Given the description of an element on the screen output the (x, y) to click on. 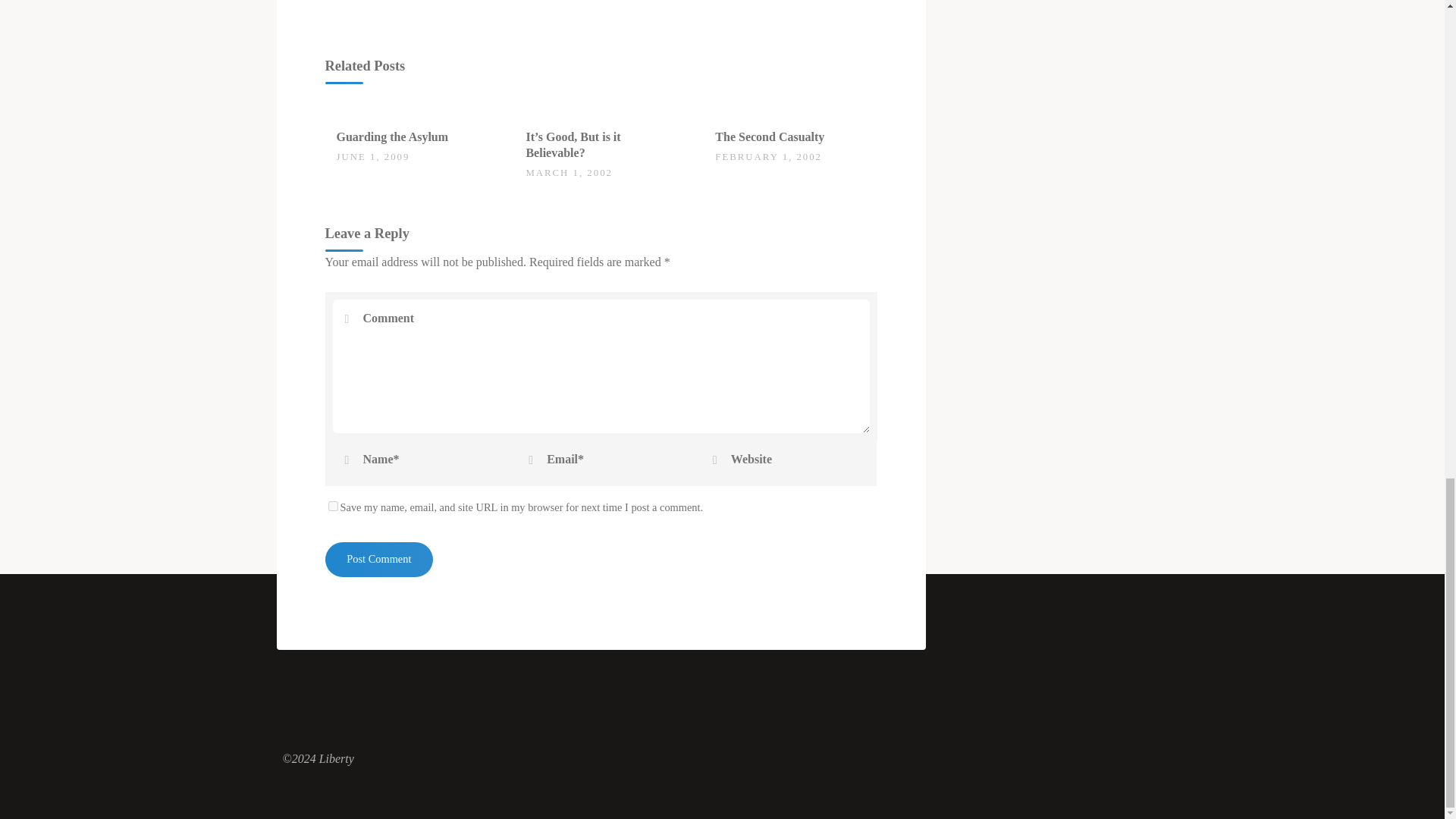
0 (344, 129)
Post Comment (378, 559)
yes (332, 506)
Guarding the Asylum (392, 136)
